Given the description of an element on the screen output the (x, y) to click on. 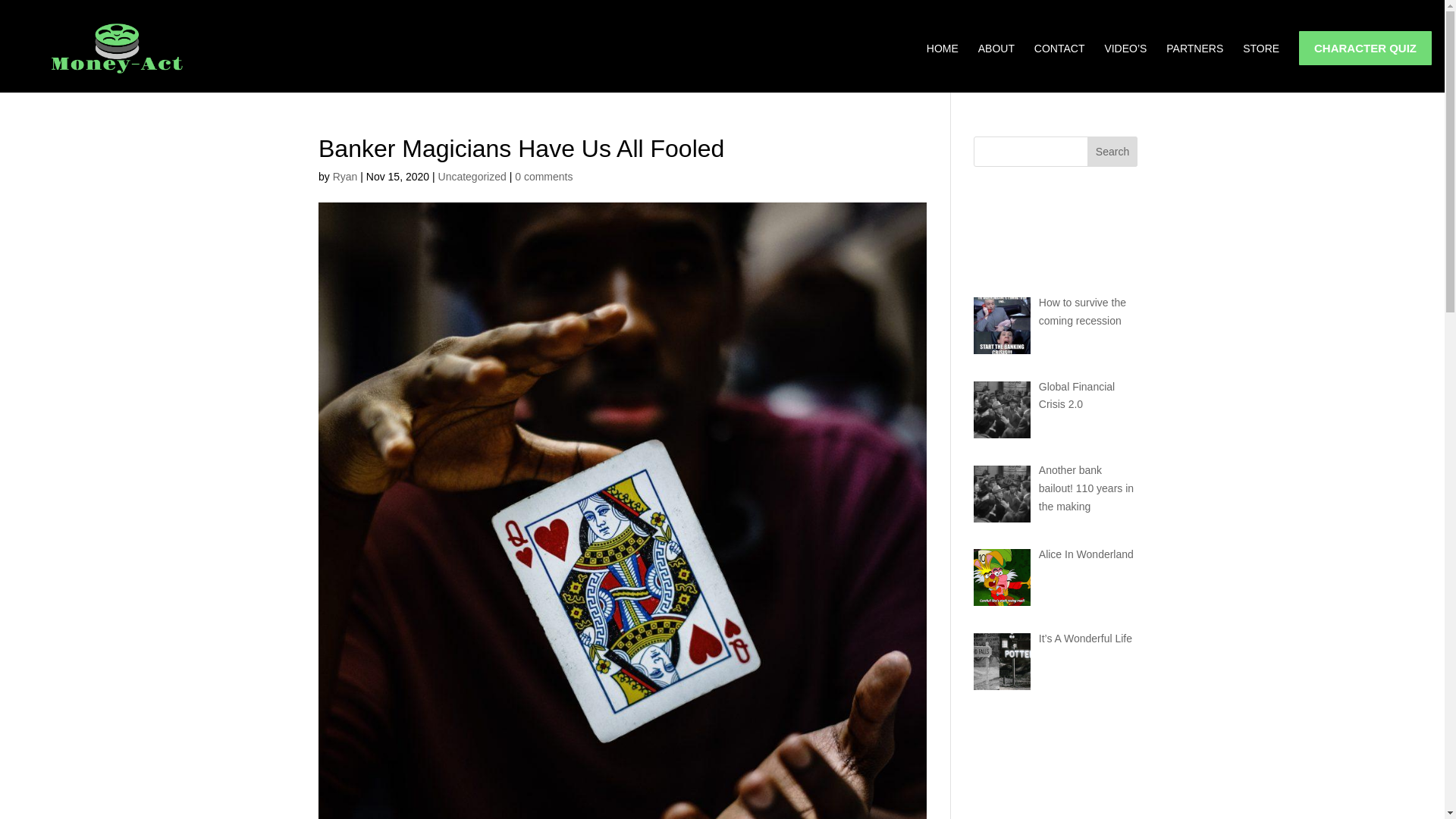
CONTACT (1058, 67)
Search (1112, 151)
Another bank bailout! 110 years in the making (1086, 488)
PARTNERS (1194, 67)
Uncategorized (472, 176)
Search (1112, 151)
How to survive the coming recession (1082, 311)
0 comments (543, 176)
Global Financial Crisis 2.0 (1077, 395)
CHARACTER QUIZ (1364, 48)
Posts by Ryan (345, 176)
Alice In Wonderland (1086, 553)
Ryan (345, 176)
